Given the description of an element on the screen output the (x, y) to click on. 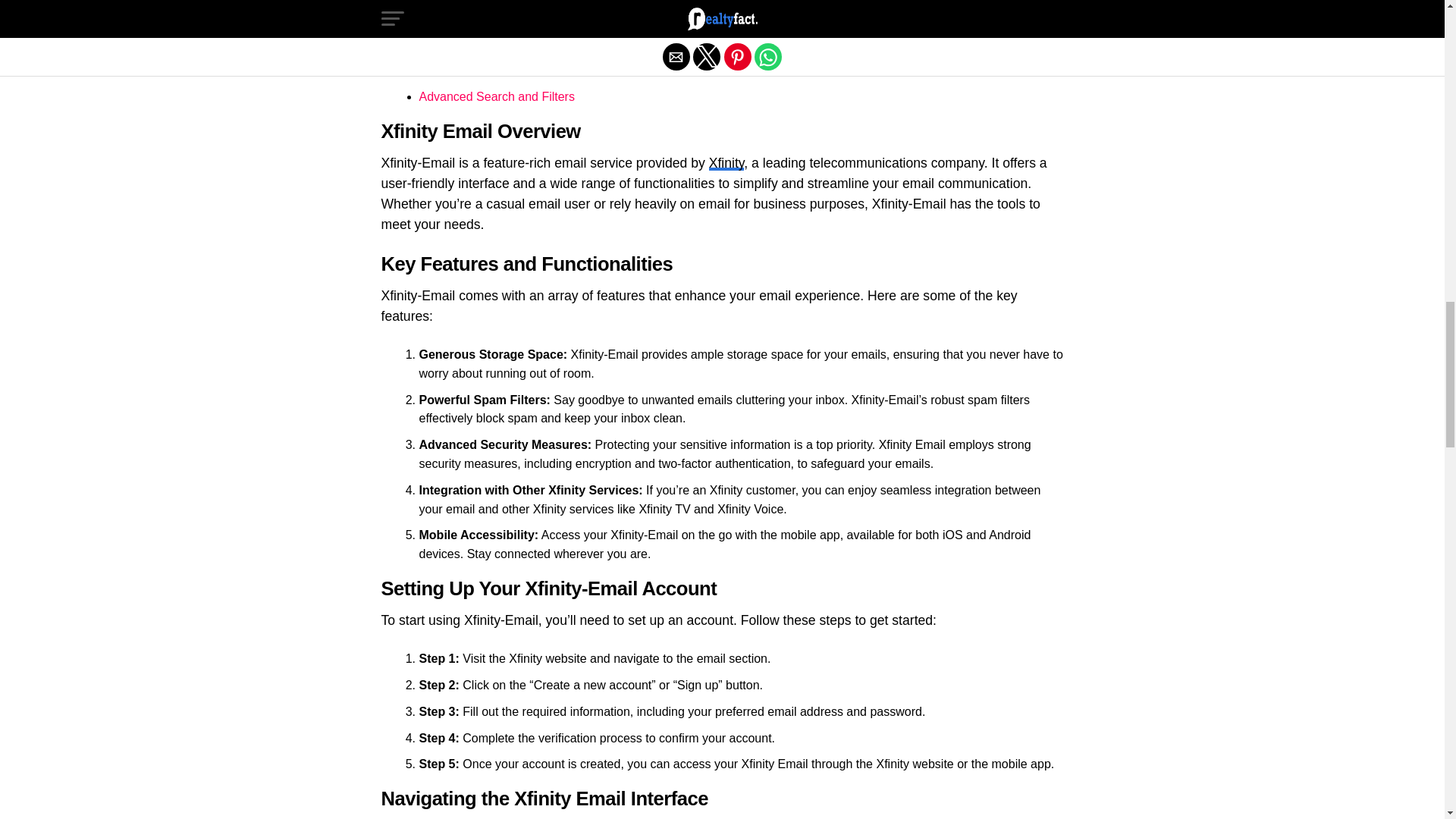
Navigating the Xfinity Email Interface (517, 17)
Navigating the Xfinity Email Interface (517, 17)
Organizing and Labeling Emails (504, 69)
Organizing and Labeling Emails (504, 69)
Managing Your Inbox (475, 42)
Xfinity (726, 162)
Advanced Search and Filters (496, 96)
Advanced Search and Filters (496, 96)
Managing Your Inbox (475, 42)
